Given the description of an element on the screen output the (x, y) to click on. 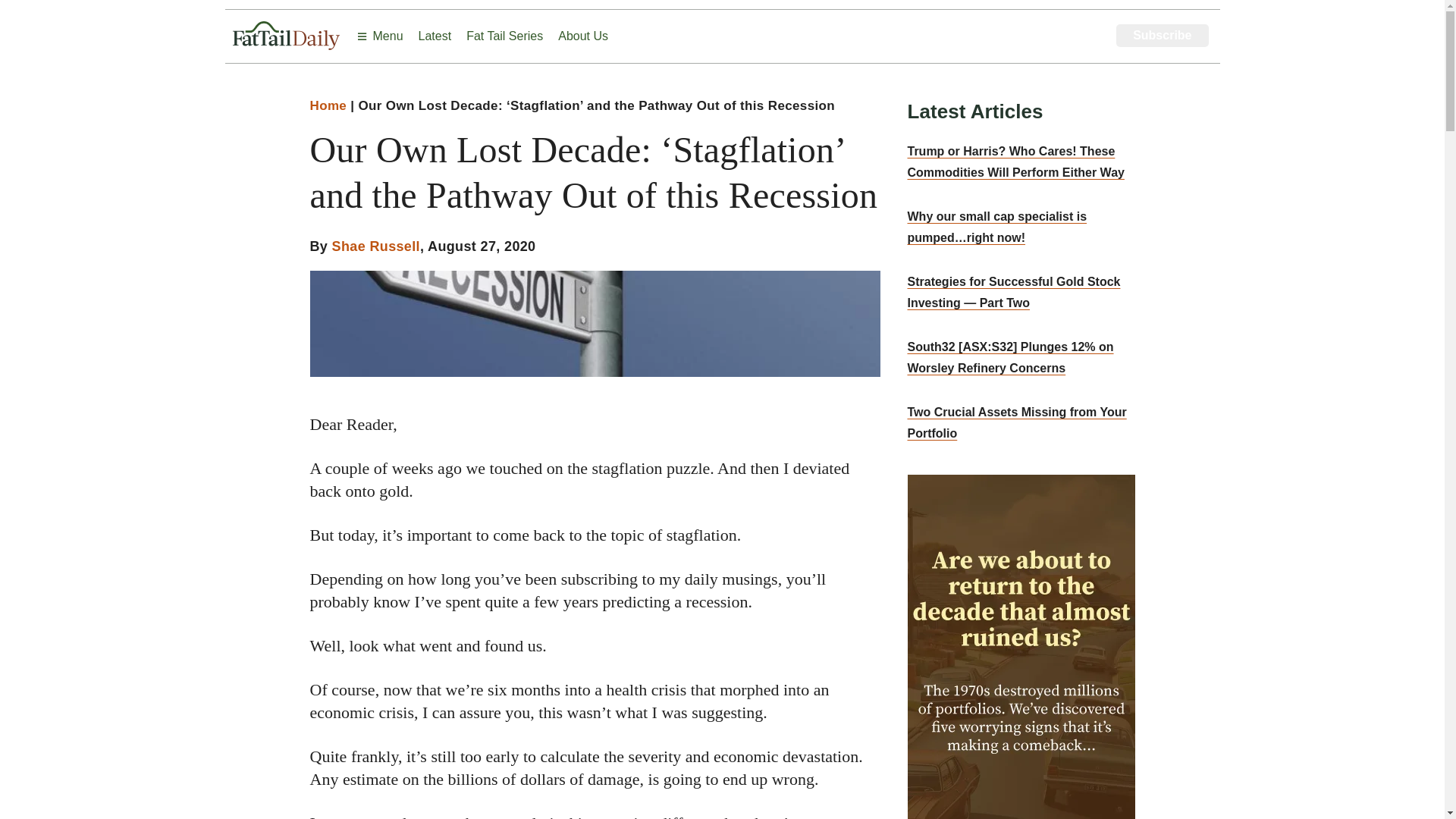
Menu (379, 36)
